Given the description of an element on the screen output the (x, y) to click on. 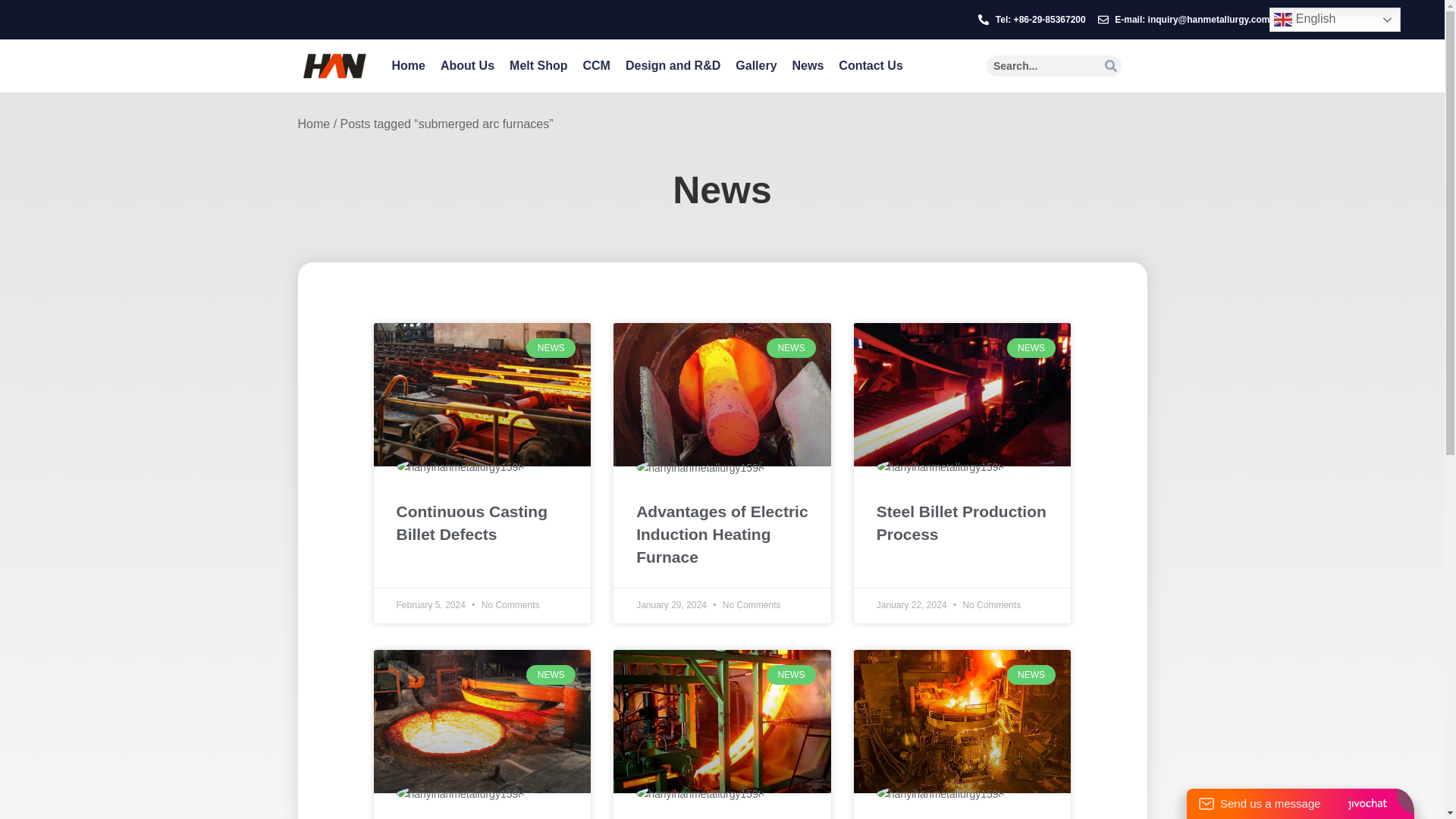
Home (313, 124)
Home (408, 65)
CCM (596, 65)
Advantages of Electric Induction Heating Furnace (722, 534)
Gallery (756, 65)
Continuous Casting Billet Defects (481, 523)
Melt Shop (538, 65)
Steel Billet Production Process (962, 523)
English (1334, 19)
About Us (467, 65)
Contact Us (870, 65)
News (807, 65)
